Given the description of an element on the screen output the (x, y) to click on. 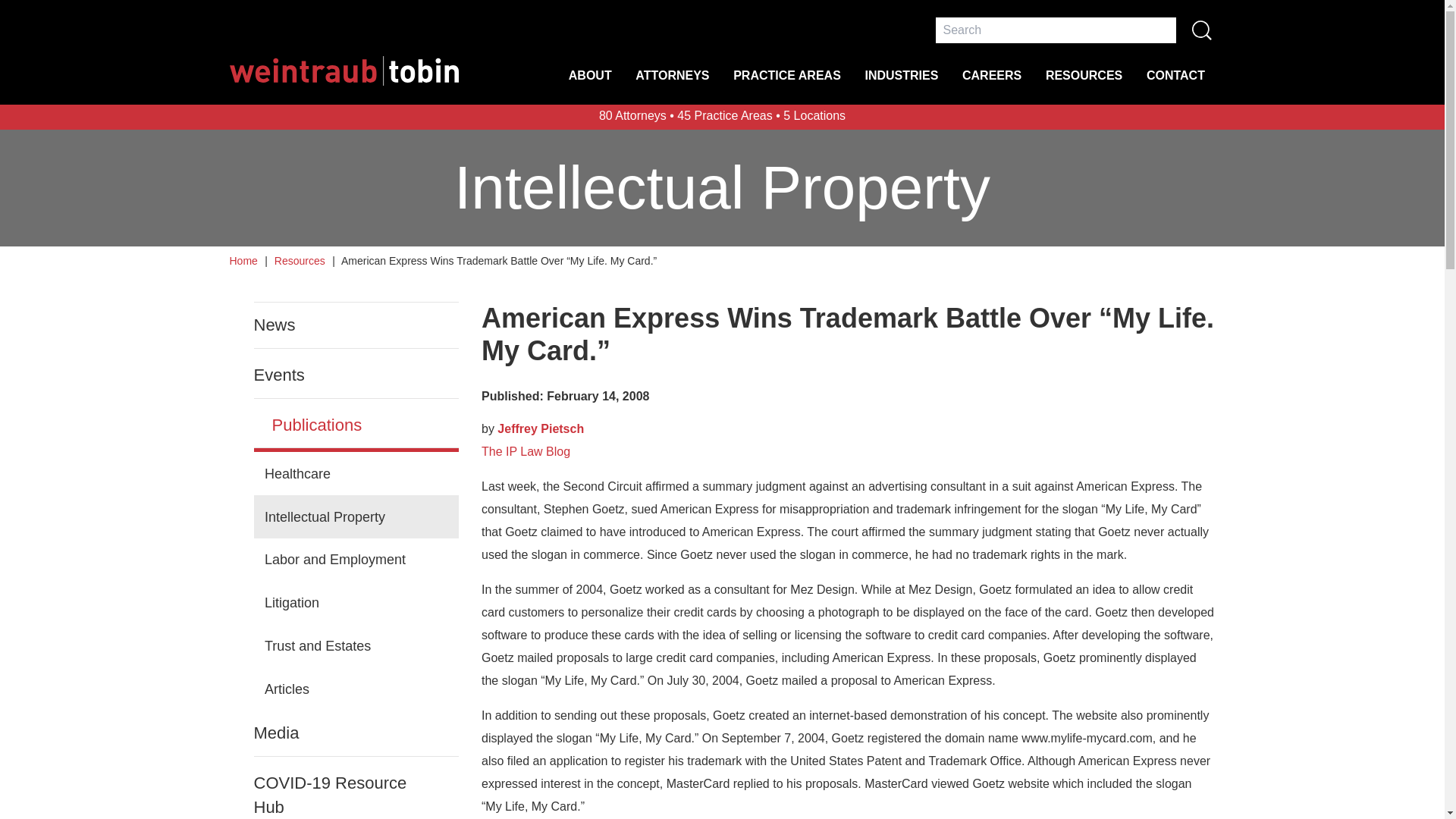
Weintraub Tobin (343, 70)
PRACTICE AREAS (786, 85)
ABOUT (590, 85)
ATTORNEYS (671, 85)
